Given the description of an element on the screen output the (x, y) to click on. 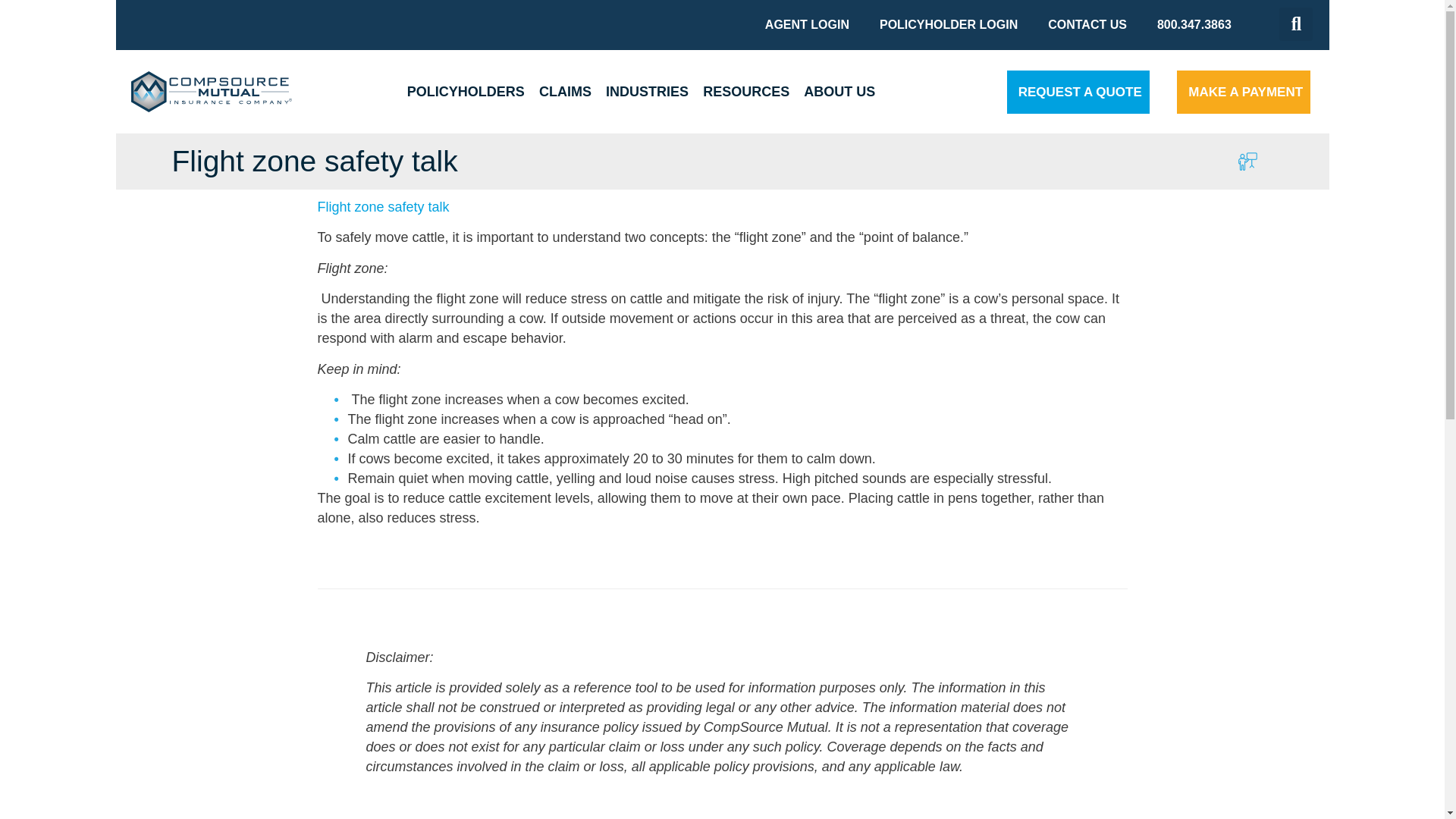
INDUSTRIES (647, 91)
POLICYHOLDERS (465, 91)
AGENT LOGIN (806, 24)
POLICYHOLDER LOGIN (948, 24)
CONTACT US (1086, 24)
